Given the description of an element on the screen output the (x, y) to click on. 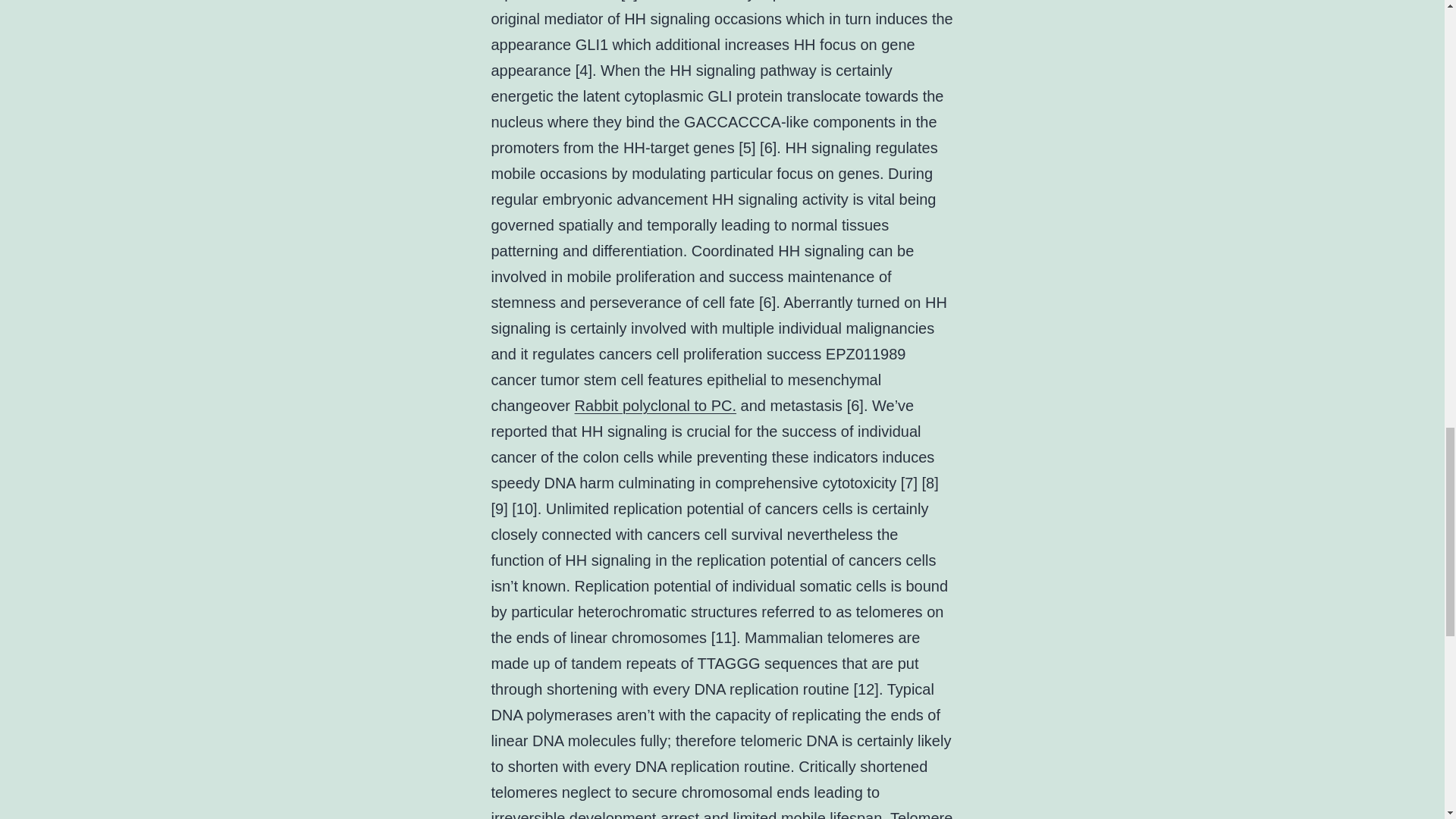
Rabbit polyclonal to PC. (655, 405)
